Given the description of an element on the screen output the (x, y) to click on. 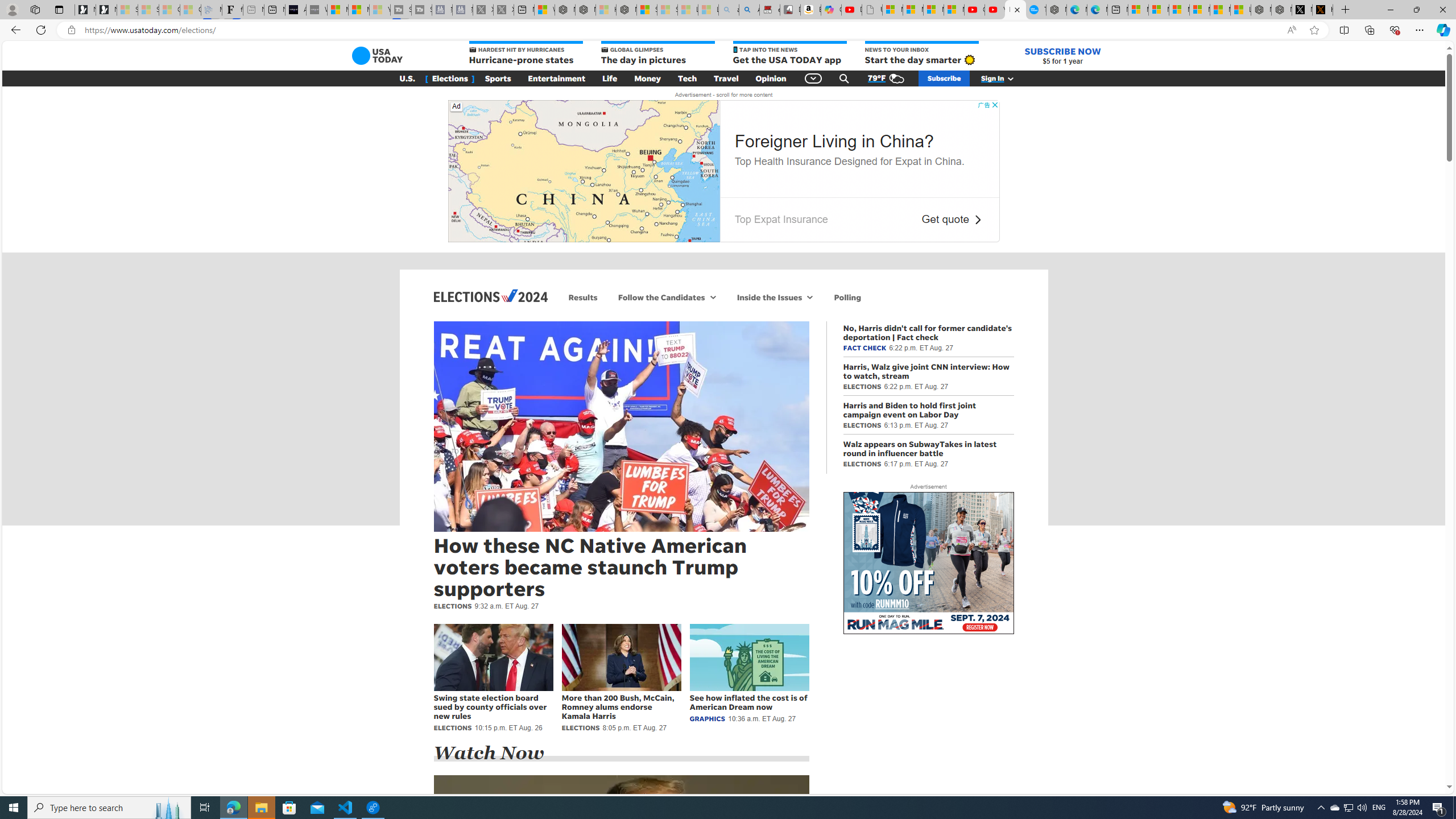
Class: gnt_n_se_a_svg (844, 78)
Life (609, 78)
Entertainment (556, 78)
Class: ns-8fxrh-e-4 (583, 170)
Newsletter Sign Up (106, 9)
Day 1: Arriving in Yemen (surreal to be here) - YouTube (851, 9)
Travel (725, 78)
Streaming Coverage | T3 - Sleeping (400, 9)
SUBSCRIBE NOW $5 for 1 year (1062, 55)
What's the best AI voice generator? - voice.ai - Sleeping (316, 9)
YouTube Kids - An App Created for Kids to Explore Content (994, 9)
